Given the description of an element on the screen output the (x, y) to click on. 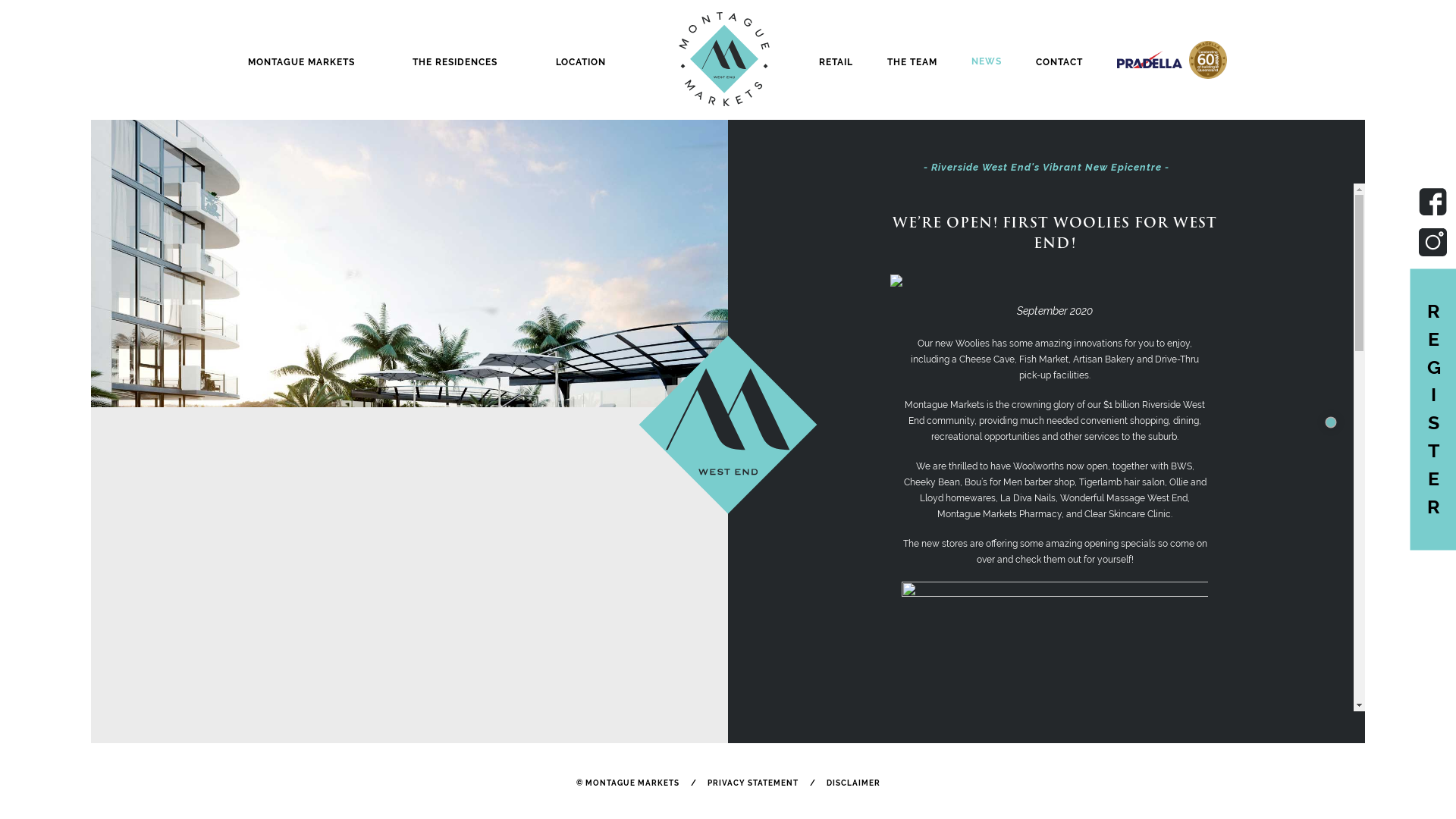
NEWS Element type: text (986, 61)
PRIVACY STATEMENT Element type: text (751, 782)
THE TEAM Element type: text (912, 62)
DISCLAIMER Element type: text (853, 782)
SKIP TO CONTENT Element type: text (1365, 85)
1 Element type: text (1329, 419)
LOCATION Element type: text (580, 62)
CONTACT Element type: text (1058, 62)
RETAIL Element type: text (836, 62)
THE RESIDENCES Element type: text (454, 62)
MONTAGUE MARKETS Element type: text (300, 62)
